Given the description of an element on the screen output the (x, y) to click on. 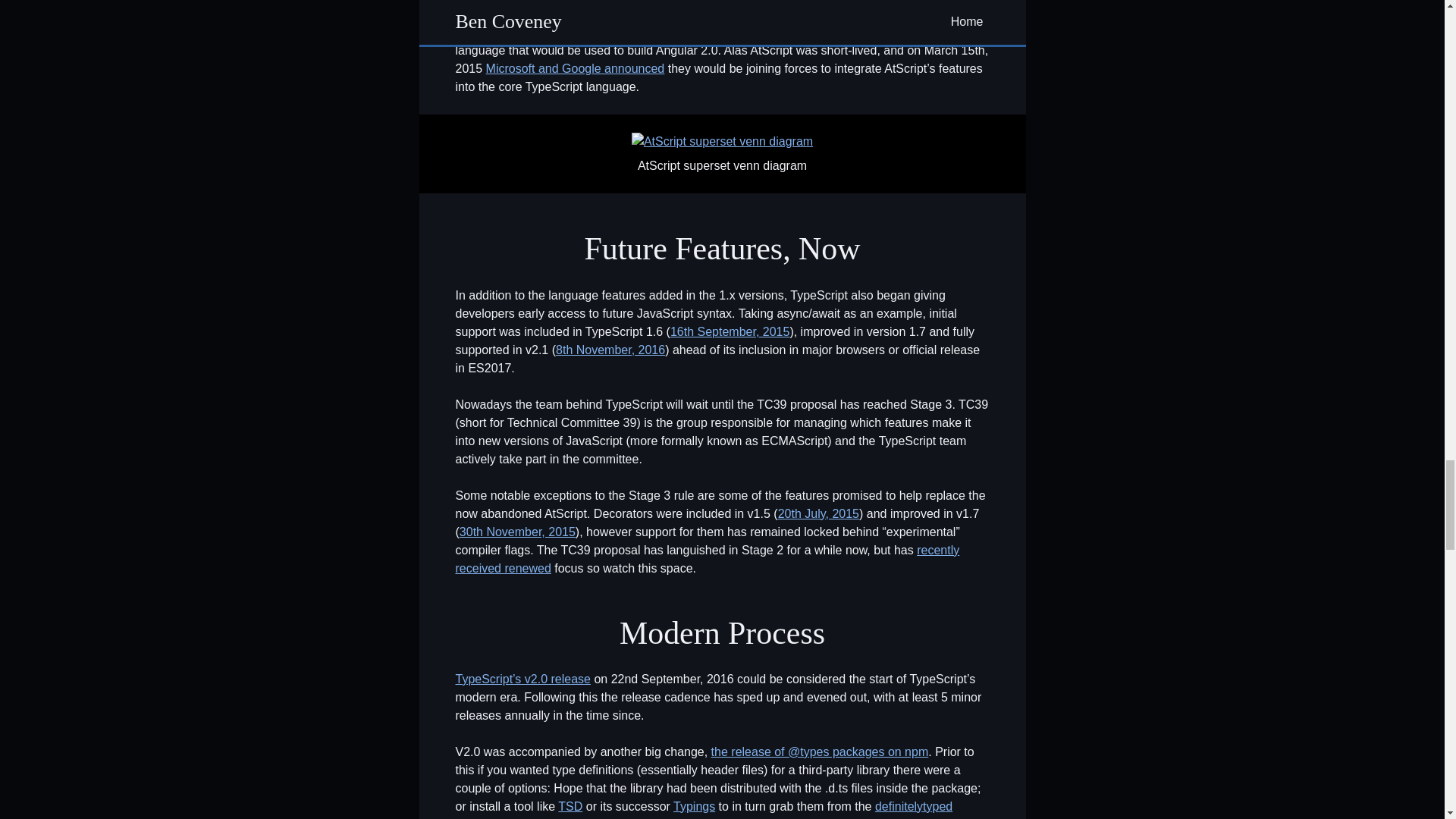
AtScript superset venn diagram (721, 141)
TSD (569, 806)
recently received renewed (706, 558)
20th July, 2015 (818, 513)
Microsoft and Google announced (575, 68)
8th November, 2016 (610, 349)
16th September, 2015 (729, 331)
definitelytyped repository (703, 809)
30th November, 2015 (517, 531)
Typings (693, 806)
